Given the description of an element on the screen output the (x, y) to click on. 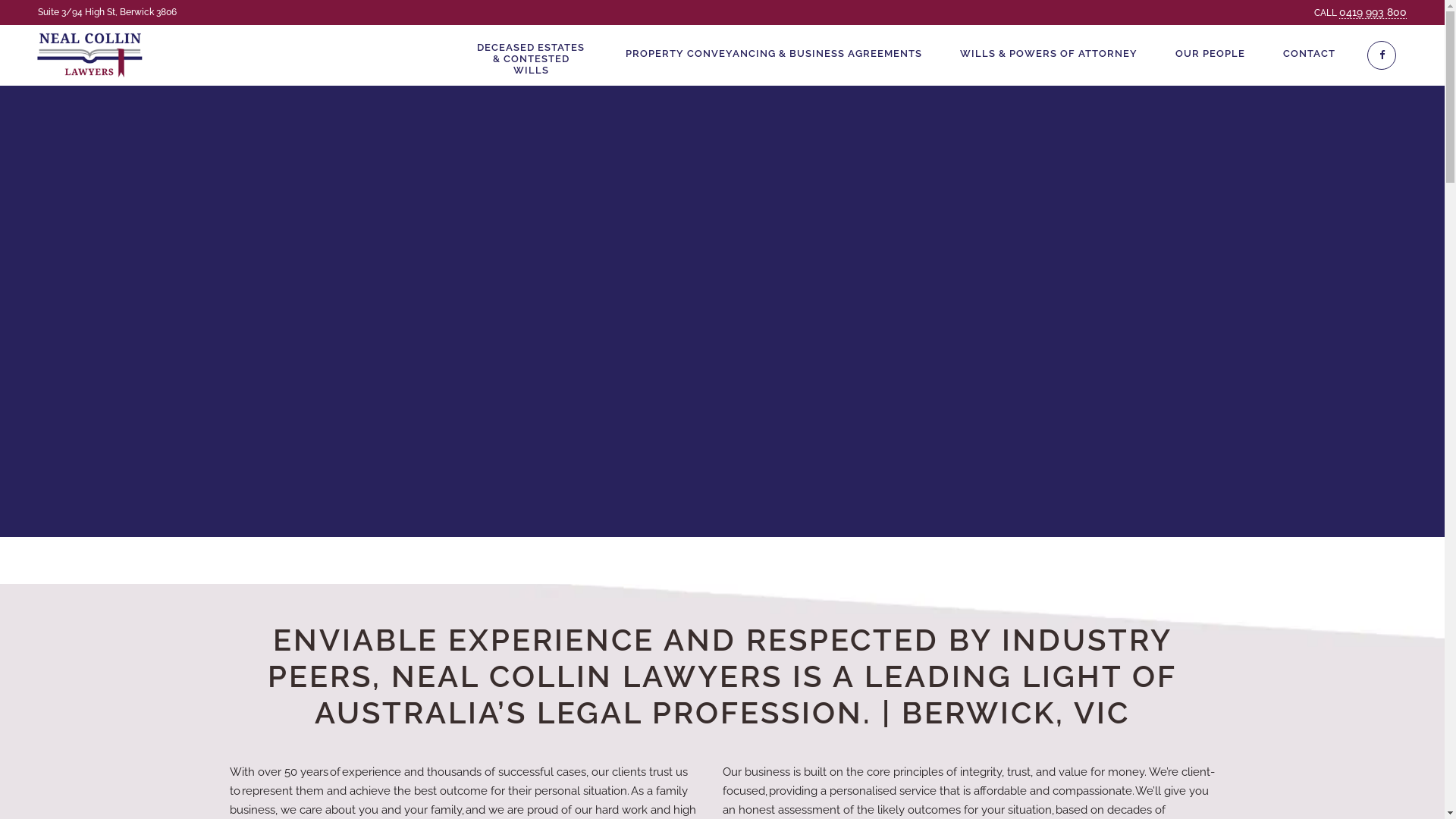
0419 993 800 Element type: text (1372, 12)
DECEASED ESTATES & CONTESTED WILLS Element type: text (530, 52)
PROPERTY CONVEYANCING & BUSINESS AGREEMENTS Element type: text (773, 57)
WILLS & POWERS OF ATTORNEY Element type: text (1048, 57)
OUR PEOPLE Element type: text (1210, 57)
CONTACT Element type: text (1309, 57)
